Given the description of an element on the screen output the (x, y) to click on. 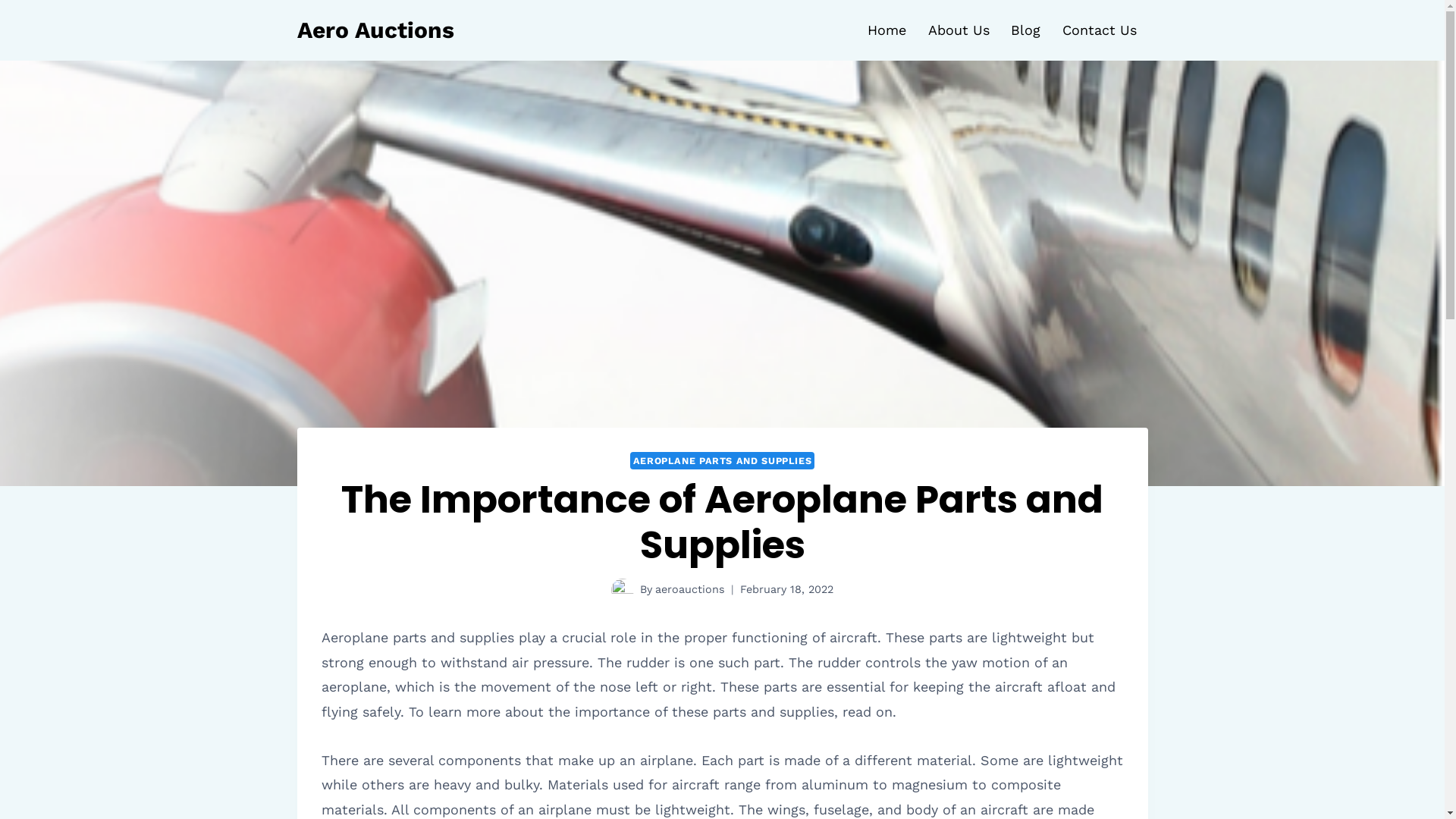
Home Element type: text (886, 29)
Contact Us Element type: text (1099, 29)
aeroauctions Element type: text (689, 589)
Aero Auctions Element type: text (375, 29)
About Us Element type: text (958, 29)
Blog Element type: text (1025, 29)
AEROPLANE PARTS AND SUPPLIES Element type: text (722, 460)
Skip to content Element type: text (0, 0)
